Given the description of an element on the screen output the (x, y) to click on. 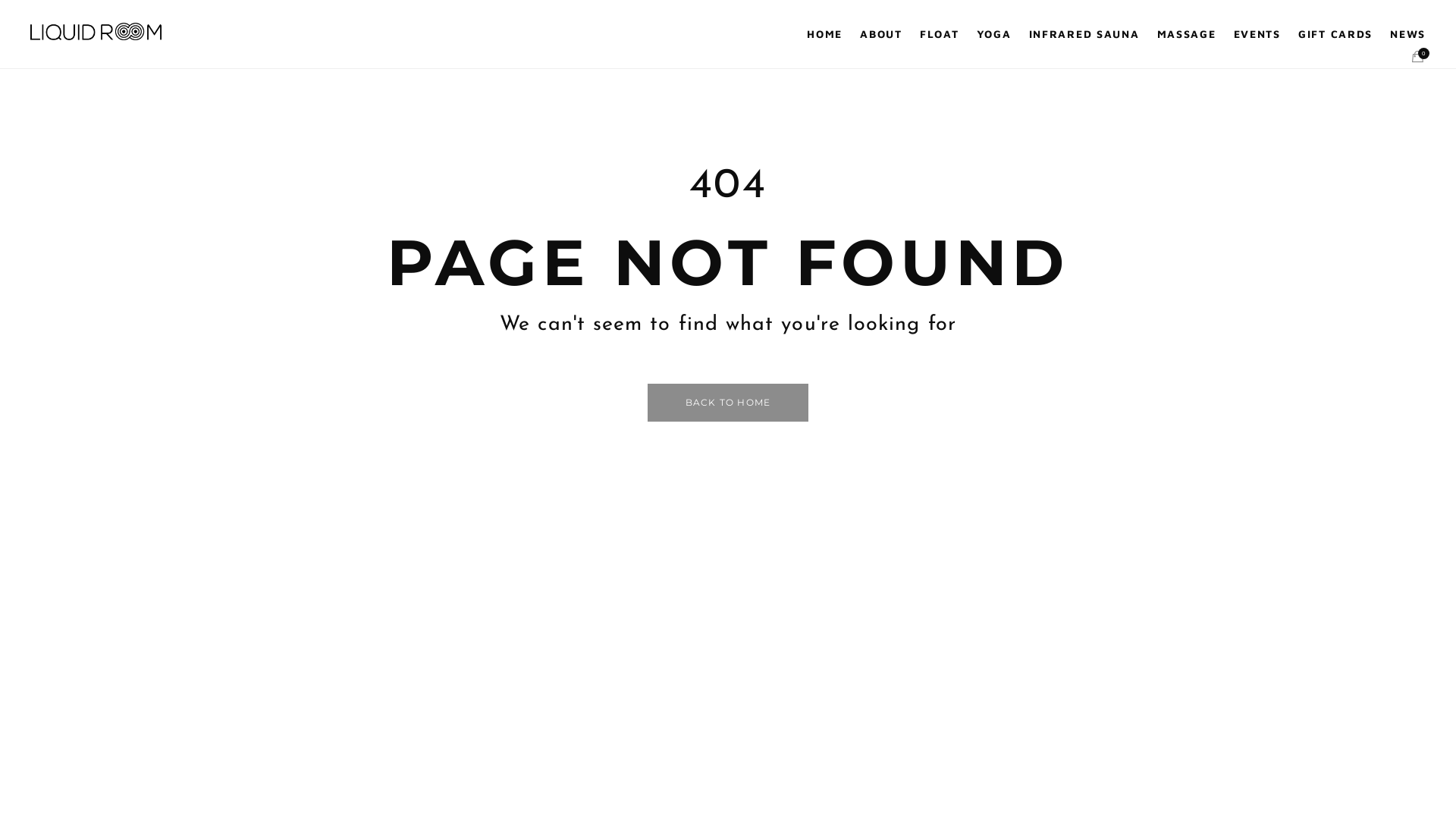
HOME Element type: text (824, 33)
EVENTS Element type: text (1256, 33)
YOGA Element type: text (993, 33)
GIFT CARDS Element type: text (1335, 33)
MASSAGE Element type: text (1186, 33)
0 Element type: text (1417, 56)
FLOAT Element type: text (938, 33)
ABOUT Element type: text (880, 33)
BACK TO HOME Element type: text (727, 402)
INFRARED SAUNA Element type: text (1084, 33)
NEWS Element type: text (1407, 33)
